Given the description of an element on the screen output the (x, y) to click on. 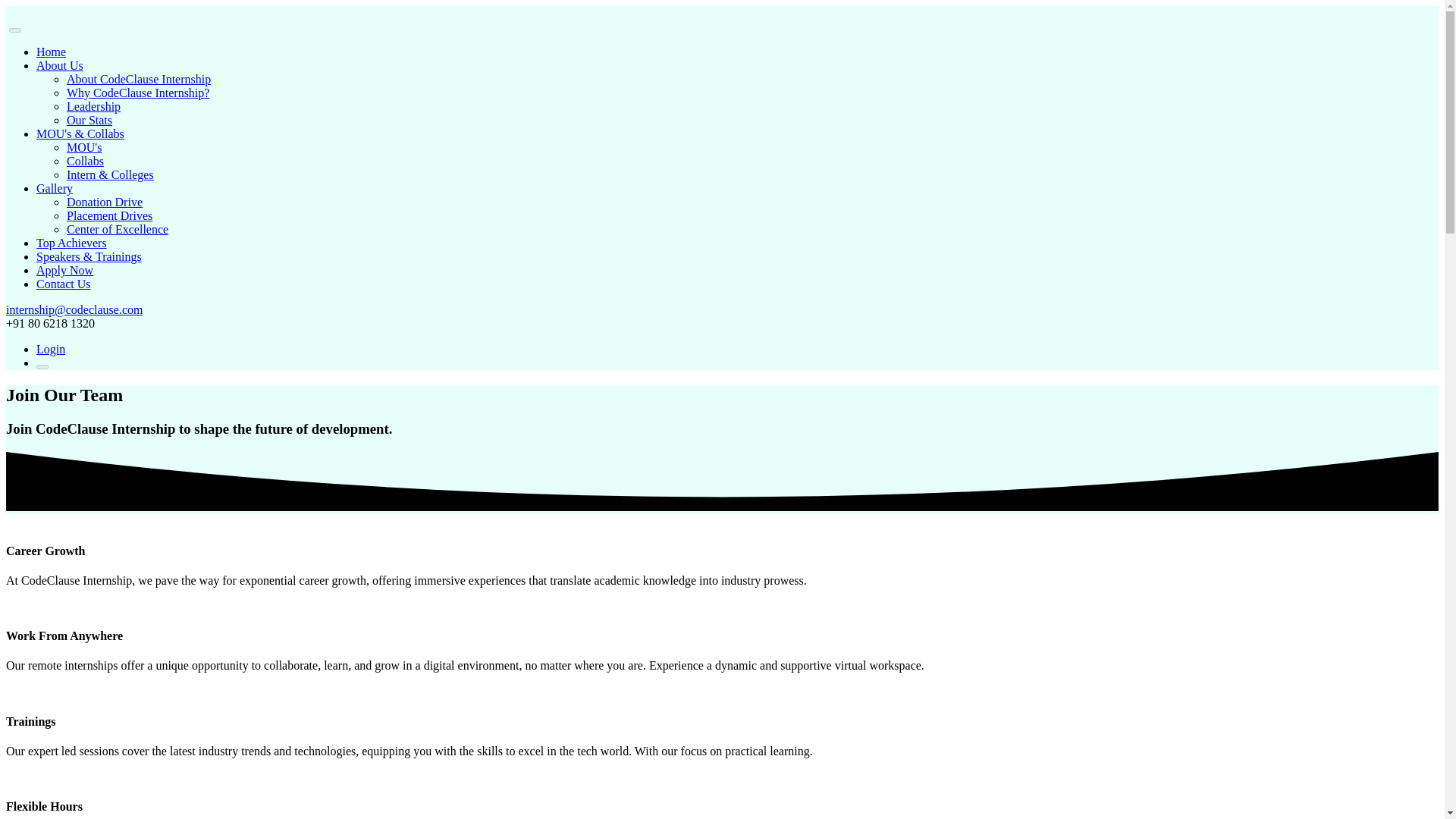
Top Achievers (71, 242)
About CodeClause Internship (138, 78)
Apply Now (64, 269)
About Us (59, 65)
Login (50, 349)
Donation Drive (104, 201)
Center of Excellence (117, 228)
Collabs (84, 160)
MOU's (83, 146)
Our Stats (89, 119)
